Given the description of an element on the screen output the (x, y) to click on. 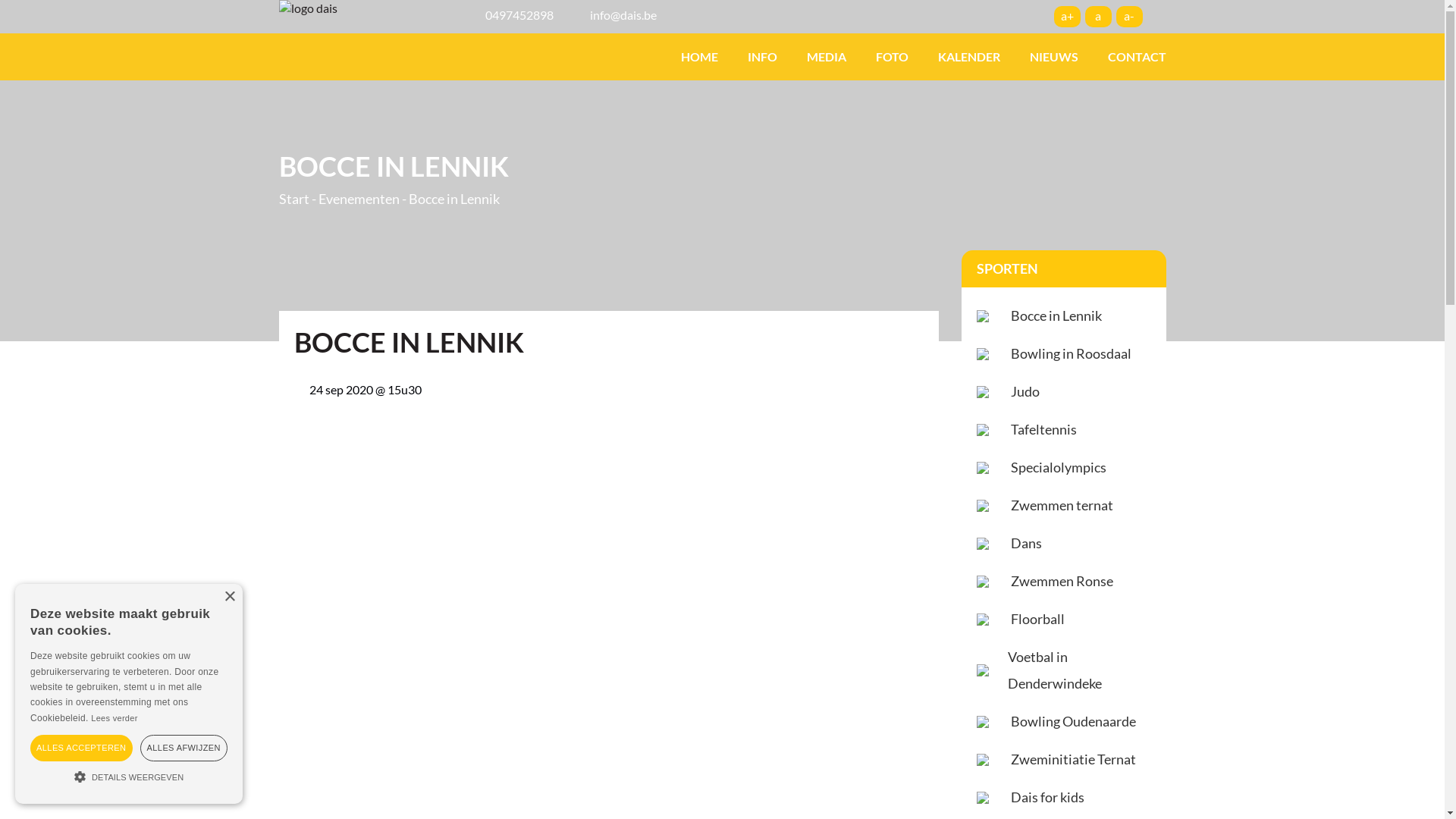
a Element type: text (1097, 16)
INFO Element type: text (761, 56)
Zweminitiatie Ternat Element type: text (1068, 759)
Specialolympics Element type: text (1053, 467)
Dais for kids Element type: text (1042, 797)
HOME Element type: text (698, 56)
NIEUWS Element type: text (1053, 56)
info@dais.be Element type: text (622, 14)
CONTACT Element type: text (1129, 56)
0497452898 Element type: text (519, 14)
a+ Element type: text (1067, 16)
Bowling Oudenaarde Element type: text (1068, 721)
Zwemmen ternat Element type: text (1057, 505)
MEDIA Element type: text (825, 56)
a- Element type: text (1129, 16)
Zwemmen Ronse Element type: text (1057, 580)
Dans Element type: text (1021, 543)
Start Element type: text (294, 199)
Voetbal in Denderwindeke Element type: text (1075, 669)
Bocce in Lennik Element type: text (1051, 315)
Evenementen Element type: text (358, 199)
KALENDER Element type: text (968, 56)
Judo Element type: text (1020, 391)
FOTO Element type: text (891, 56)
Floorball Element type: text (1032, 618)
Tafeltennis Element type: text (1039, 429)
Facebook Element type: text (1157, 15)
Lees verder Element type: text (114, 717)
Bowling in Roosdaal Element type: text (1066, 353)
